Given the description of an element on the screen output the (x, y) to click on. 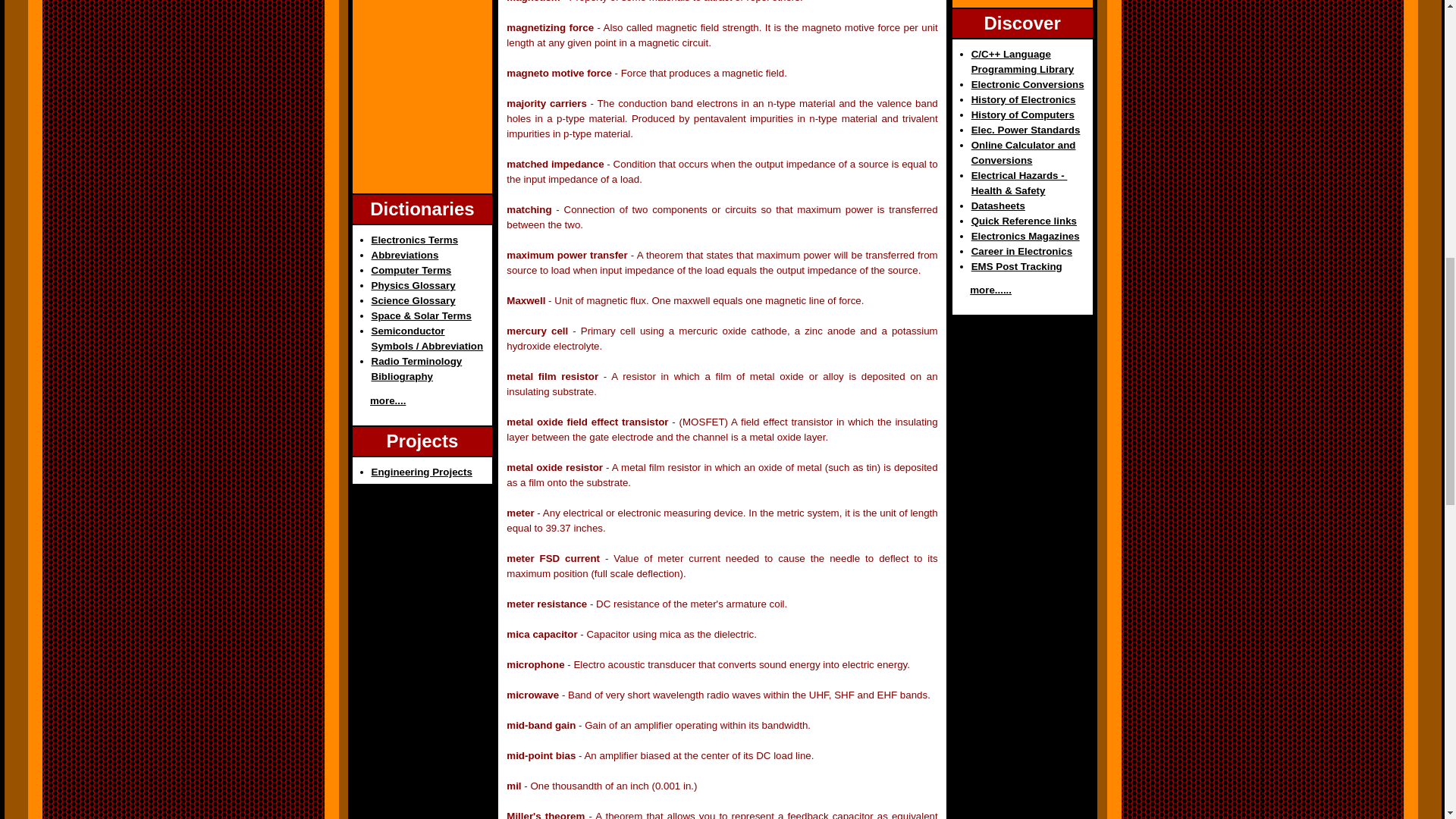
Radio Terminology Bibliography (417, 368)
Engineering Projects (421, 471)
Science Glossary (413, 300)
Electronics Terms (414, 239)
Computer Terms (411, 270)
Advertisement (1021, 2)
Physics Glossary (413, 285)
more.... (387, 400)
Abbreviations (405, 255)
